Given the description of an element on the screen output the (x, y) to click on. 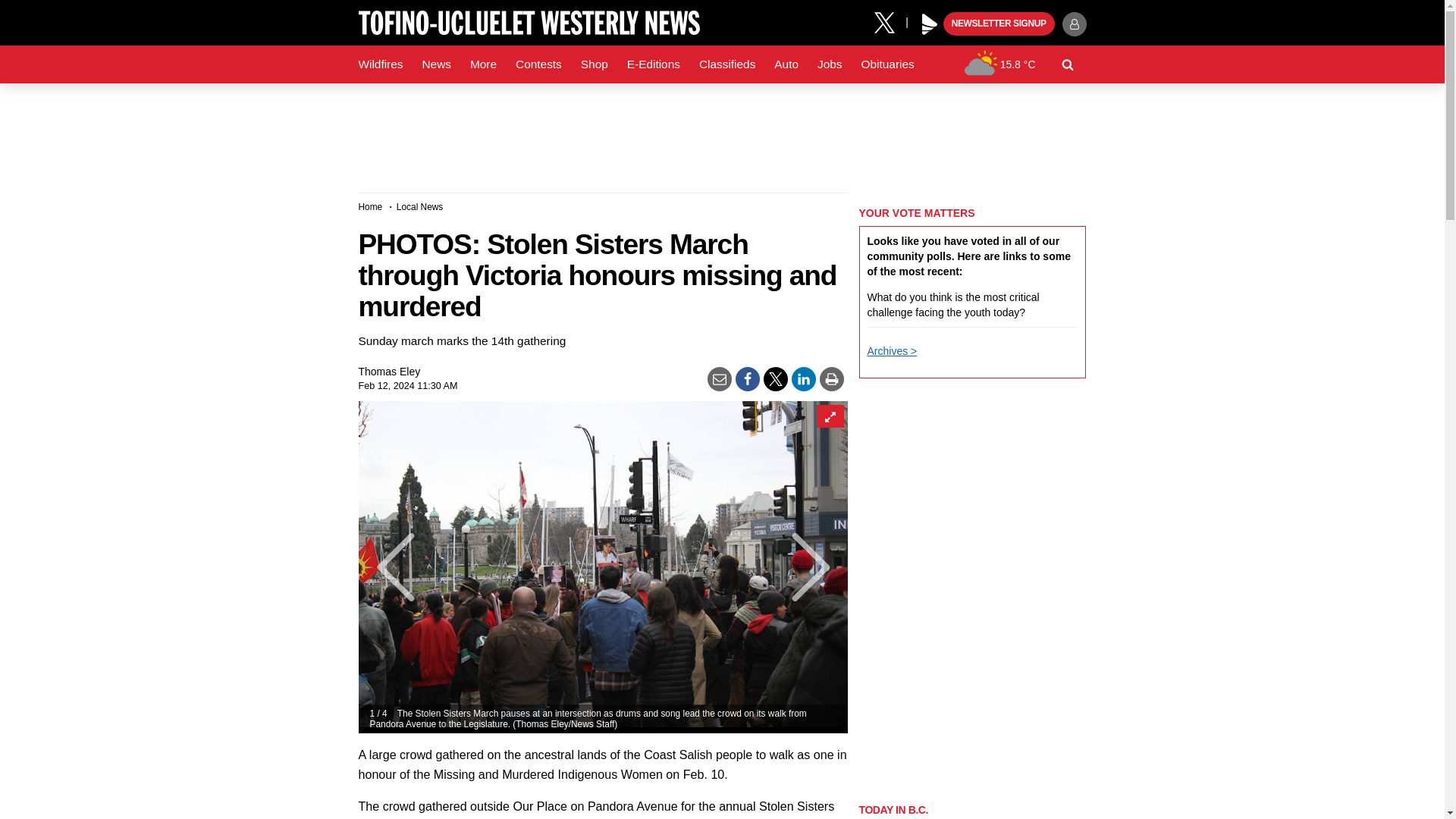
NEWSLETTER SIGNUP (998, 24)
Black Press Media (929, 24)
Wildfires (380, 64)
Next (819, 567)
News (435, 64)
Play (929, 24)
Expand (829, 415)
X (889, 21)
Previous (385, 567)
